Given the description of an element on the screen output the (x, y) to click on. 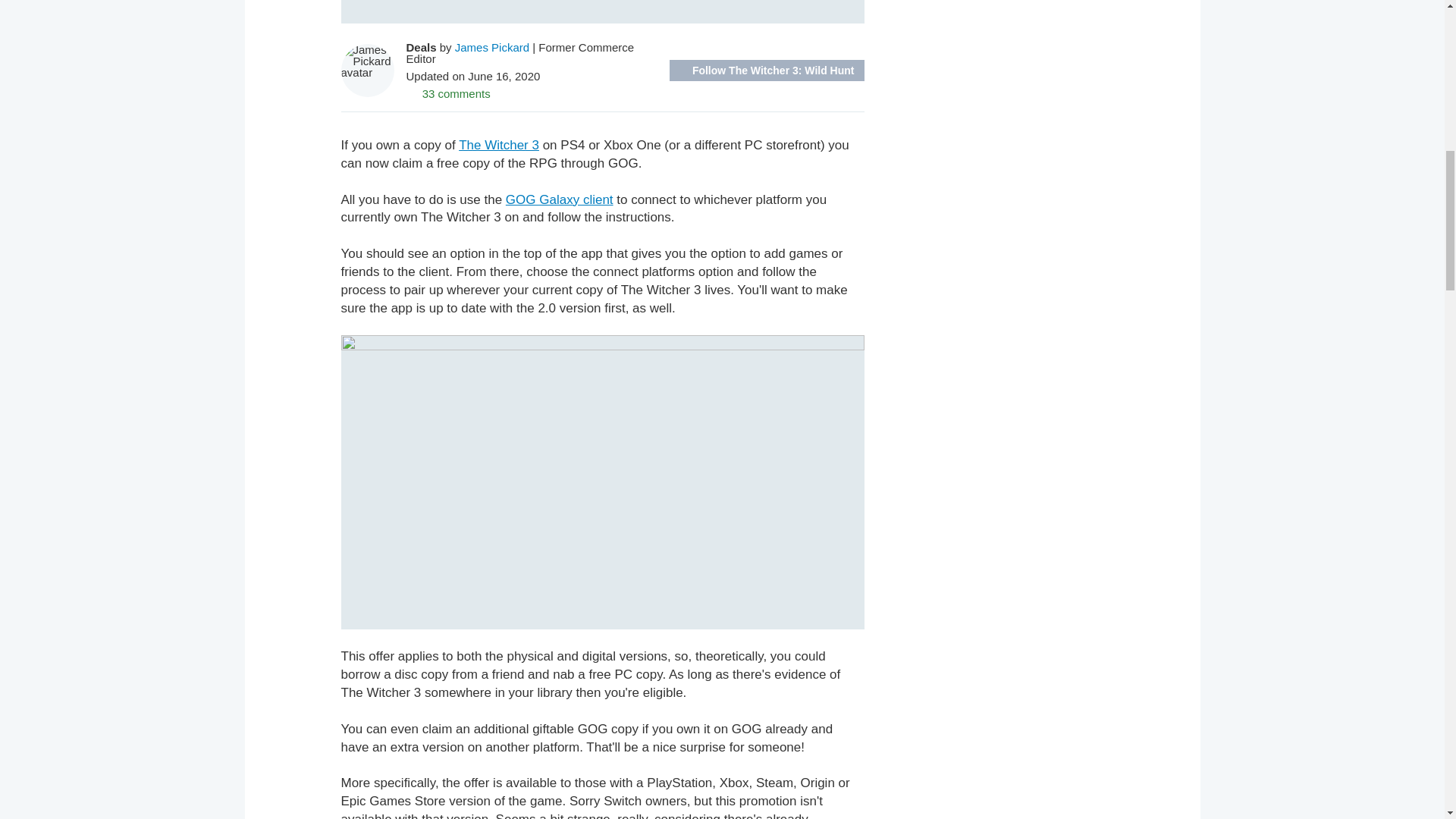
GOG Galaxy client (558, 199)
33 comments (448, 92)
James Pickard (491, 47)
Follow The Witcher 3: Wild Hunt (766, 70)
The Witcher 3 (498, 145)
